Given the description of an element on the screen output the (x, y) to click on. 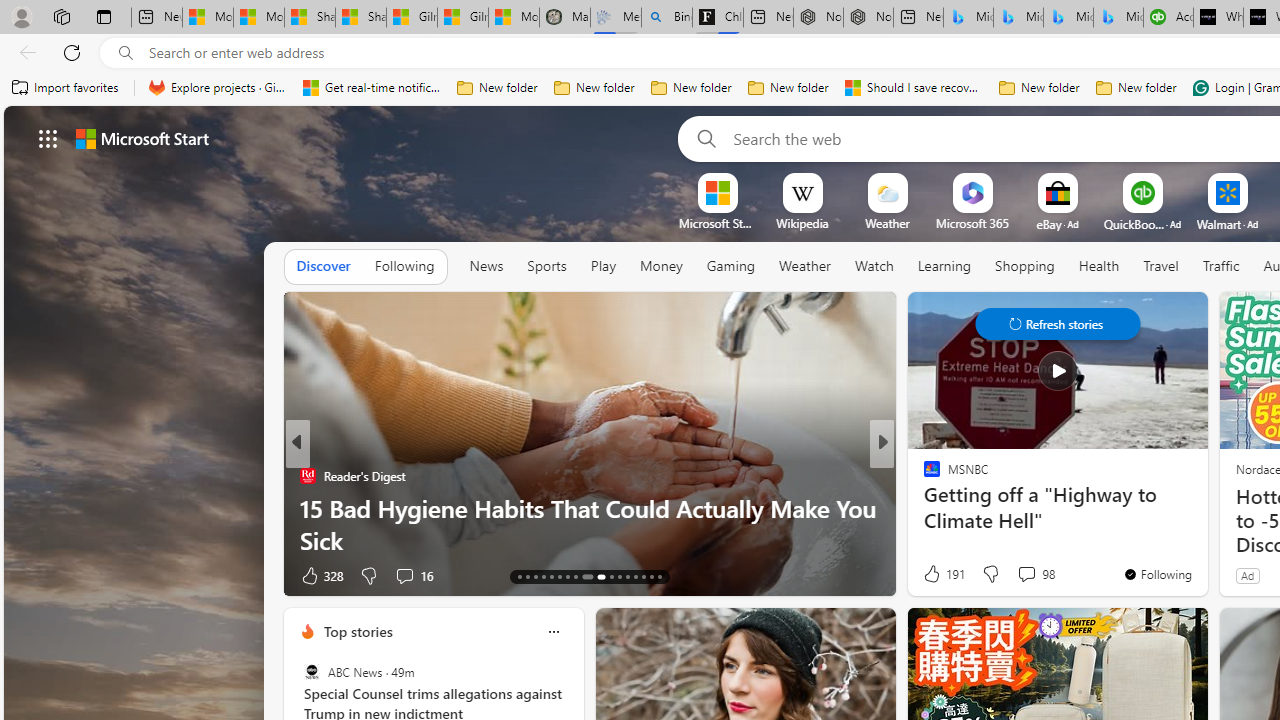
AutomationID: tab-21 (582, 576)
Travel (1160, 265)
Bing Real Estate - Home sales and rental listings (667, 17)
AutomationID: tab-14 (527, 576)
Inc. (923, 475)
AutomationID: tab-18 (559, 576)
Learning (944, 267)
Sports (546, 267)
Nordace - #1 Japanese Best-Seller - Siena Smart Backpack (868, 17)
Start the conversation (1007, 575)
Money (660, 265)
Search icon (125, 53)
AutomationID: tab-27 (642, 576)
